Given the description of an element on the screen output the (x, y) to click on. 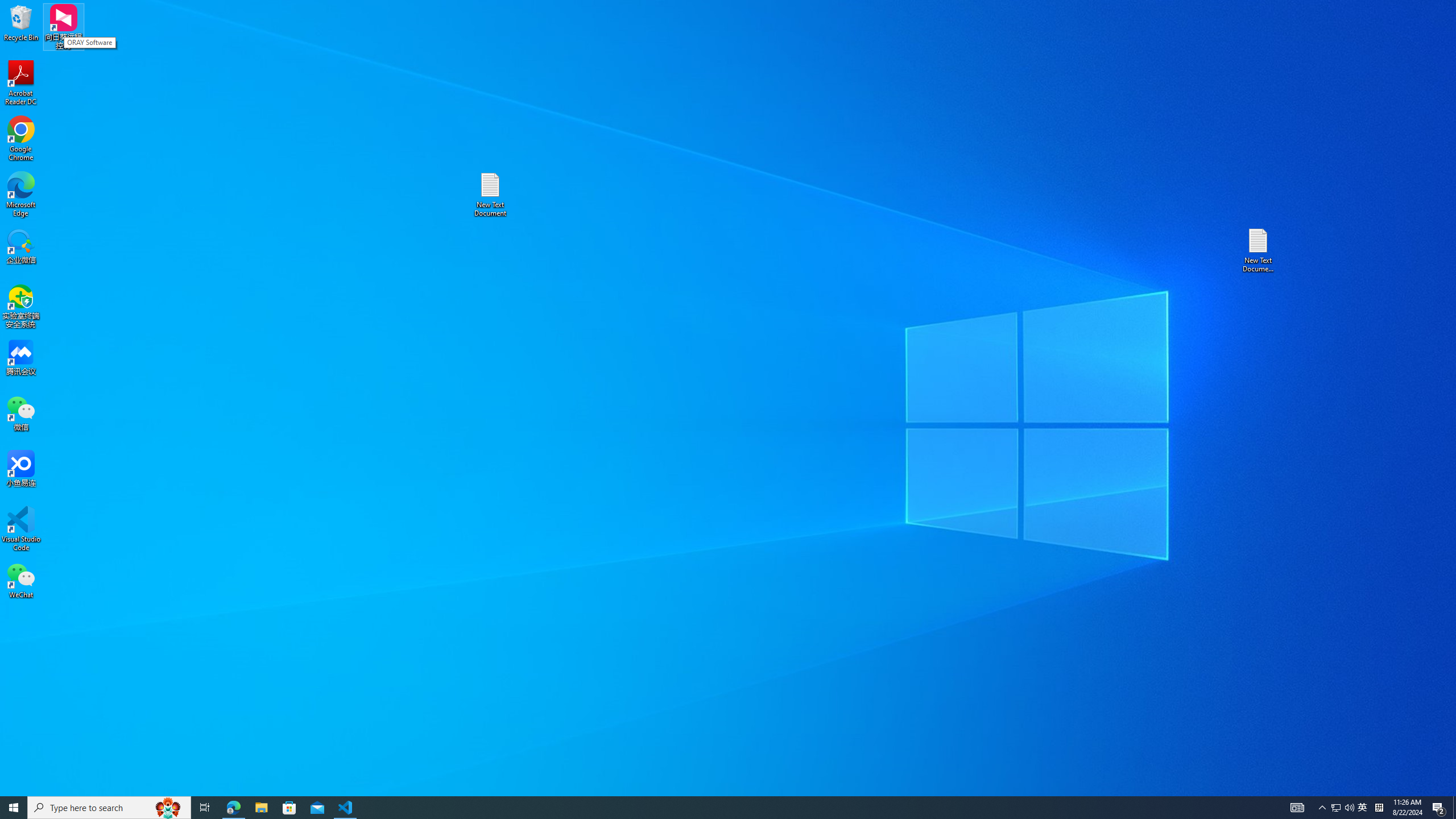
Action Center, 2 new notifications (1439, 807)
Recycle Bin (21, 22)
Search highlights icon opens search home window (167, 807)
Visual Studio Code (21, 528)
Q2790: 100% (1349, 807)
Visual Studio Code - 1 running window (345, 807)
Task View (204, 807)
Type here to search (108, 807)
Microsoft Edge (21, 194)
New Text Document (2) (1258, 250)
Acrobat Reader DC (1362, 807)
Google Chrome (21, 82)
